Given the description of an element on the screen output the (x, y) to click on. 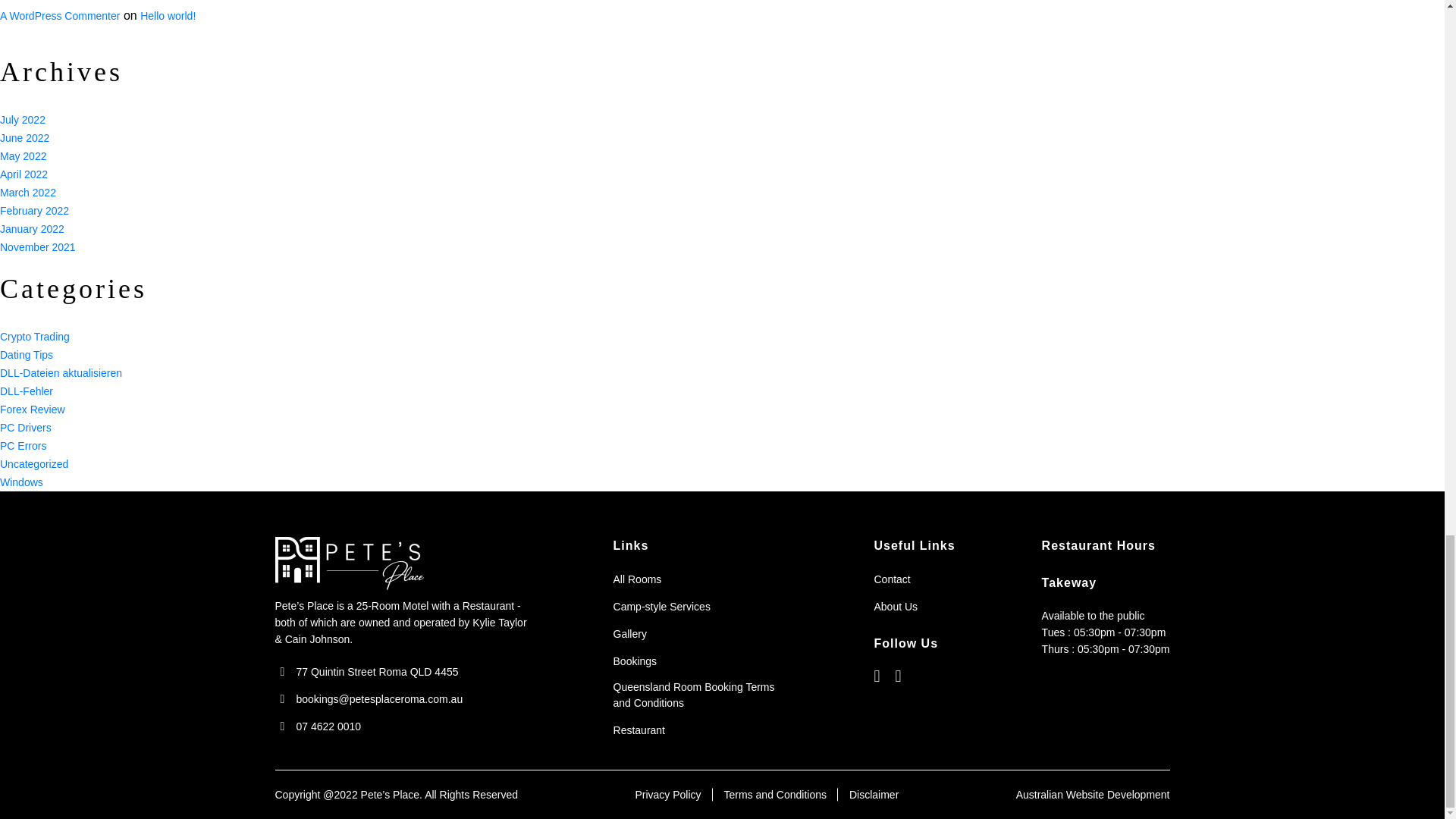
A WordPress Commenter (59, 15)
February 2022 (34, 210)
DLL-Fehler (26, 391)
Forex Review (32, 409)
May 2022 (23, 155)
DLL-Dateien aktualisieren (61, 373)
Hello world! (167, 15)
July 2022 (22, 119)
Dating Tips (26, 354)
Crypto Trading (34, 336)
